Given the description of an element on the screen output the (x, y) to click on. 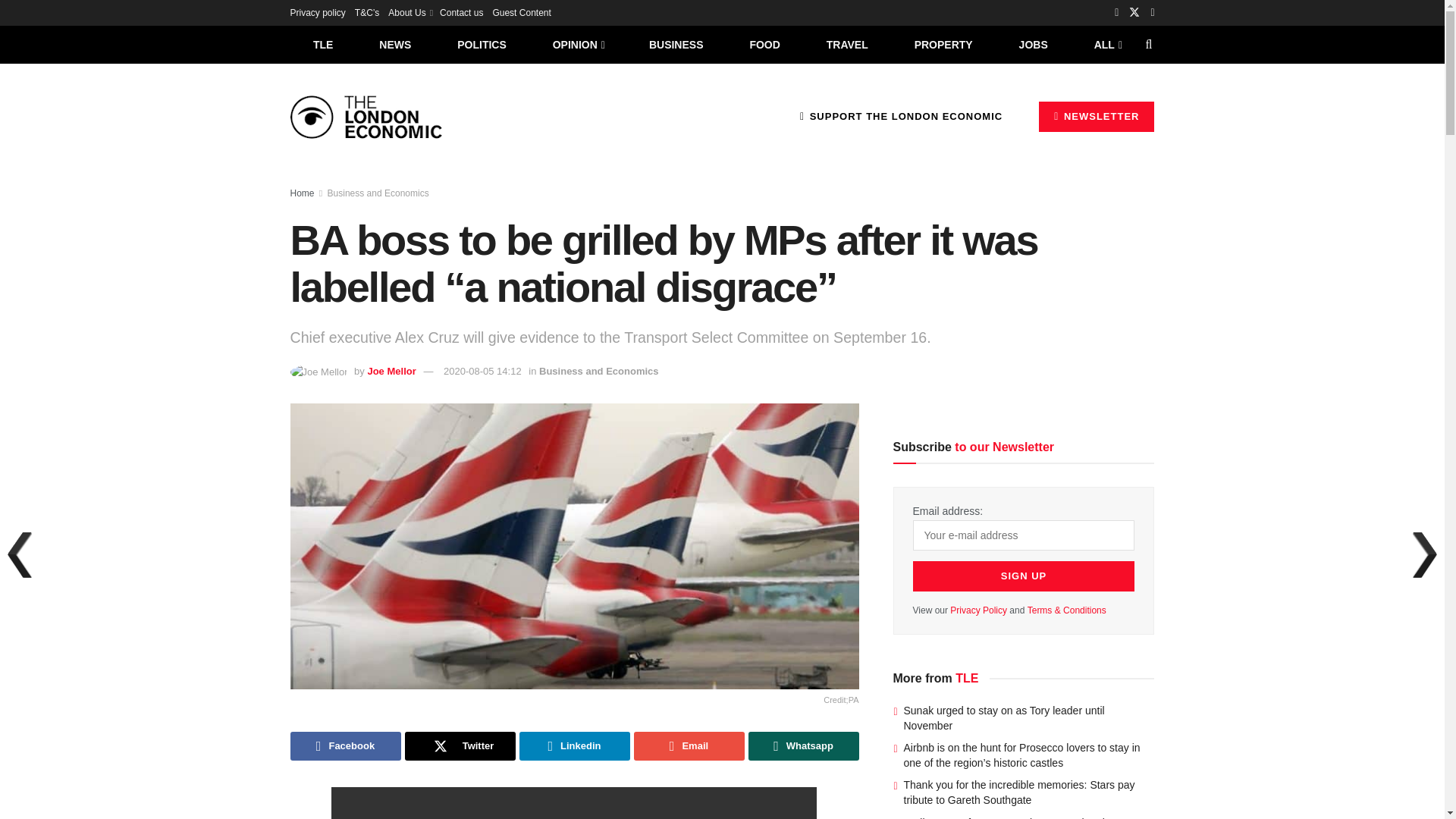
TLE (322, 44)
About Us (409, 12)
FOOD (764, 44)
ALL (1106, 44)
PROPERTY (943, 44)
NEWS (394, 44)
NEWSLETTER (1096, 116)
OPINION (577, 44)
Sign up (1023, 576)
TRAVEL (847, 44)
JOBS (1032, 44)
Privacy policy (317, 12)
Contact us (461, 12)
Home (301, 193)
BUSINESS (676, 44)
